Given the description of an element on the screen output the (x, y) to click on. 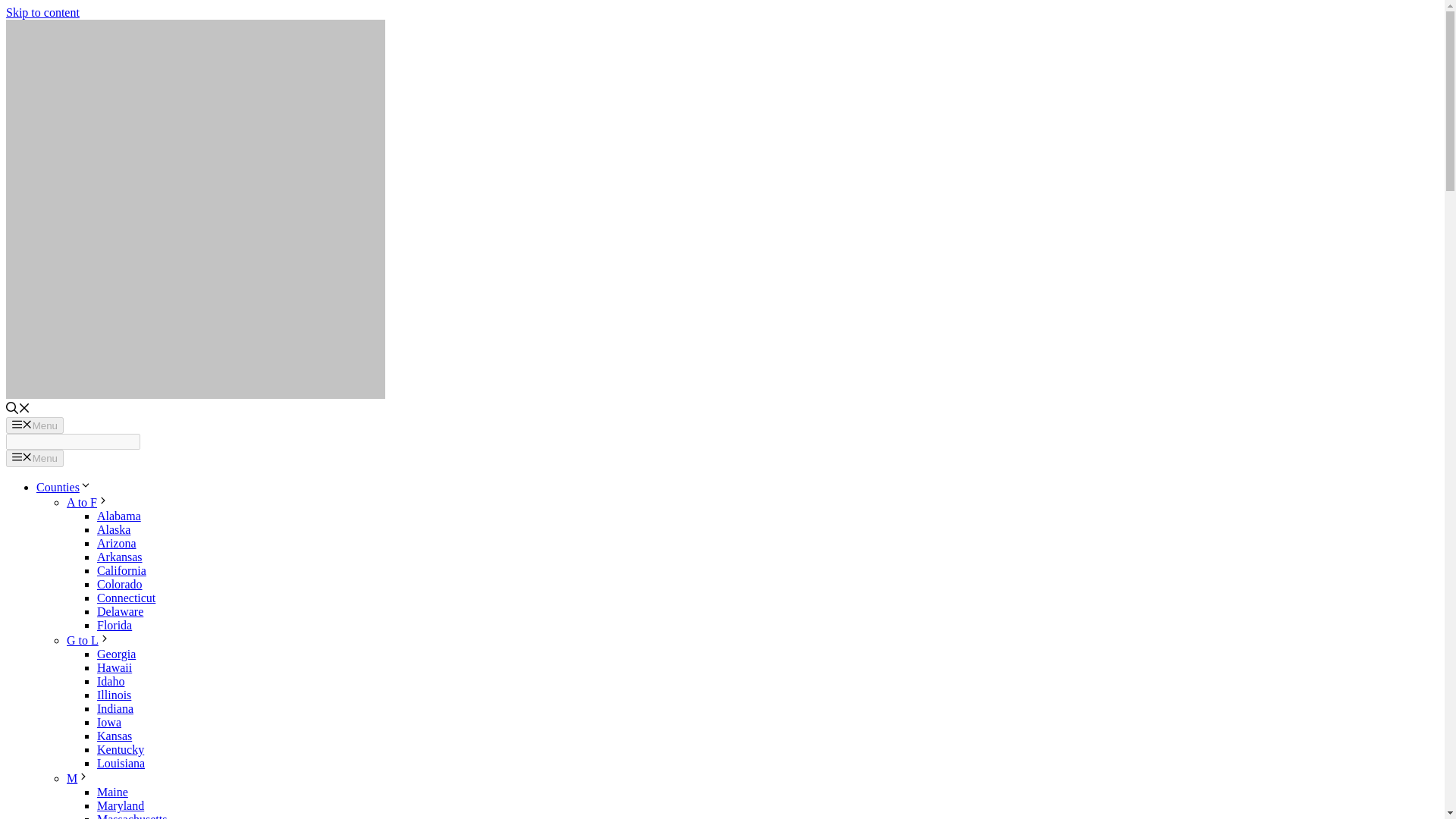
California (122, 570)
Idaho (110, 680)
Arkansas (119, 556)
Search (72, 441)
Alaska (114, 529)
Indiana (115, 707)
G to L (88, 640)
Georgia (116, 653)
A to F (87, 502)
Counties (63, 486)
Hawaii (114, 667)
Massachusetts (132, 816)
Iowa (108, 721)
Louisiana (120, 762)
M (77, 778)
